Given the description of an element on the screen output the (x, y) to click on. 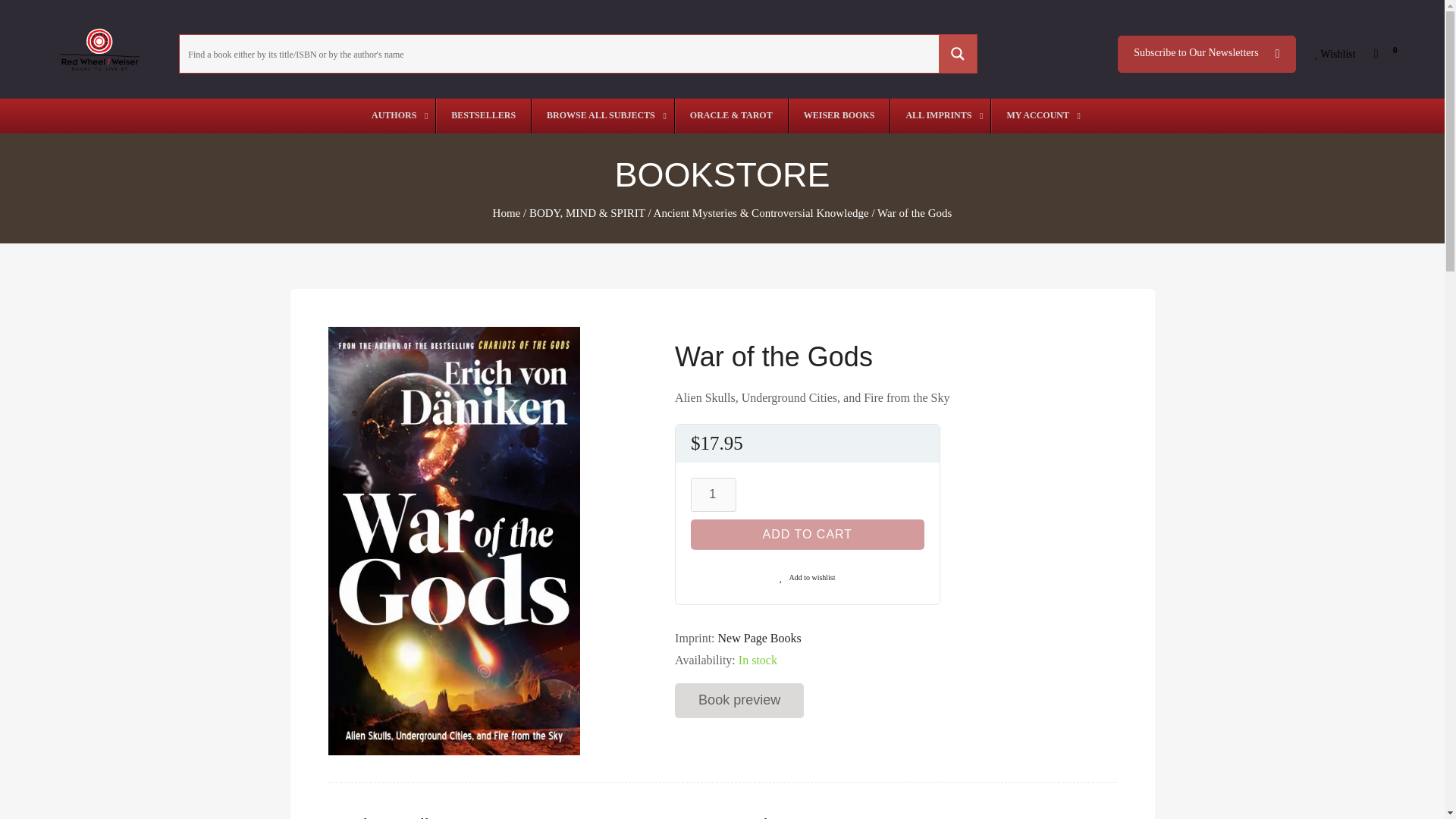
Wishlist (1334, 54)
AUTHORS (395, 115)
BROWSE ALL SUBJECTS (602, 115)
BESTSELLERS (483, 115)
Subscribe to Our Newsletters (1206, 53)
1 (713, 494)
